Given the description of an element on the screen output the (x, y) to click on. 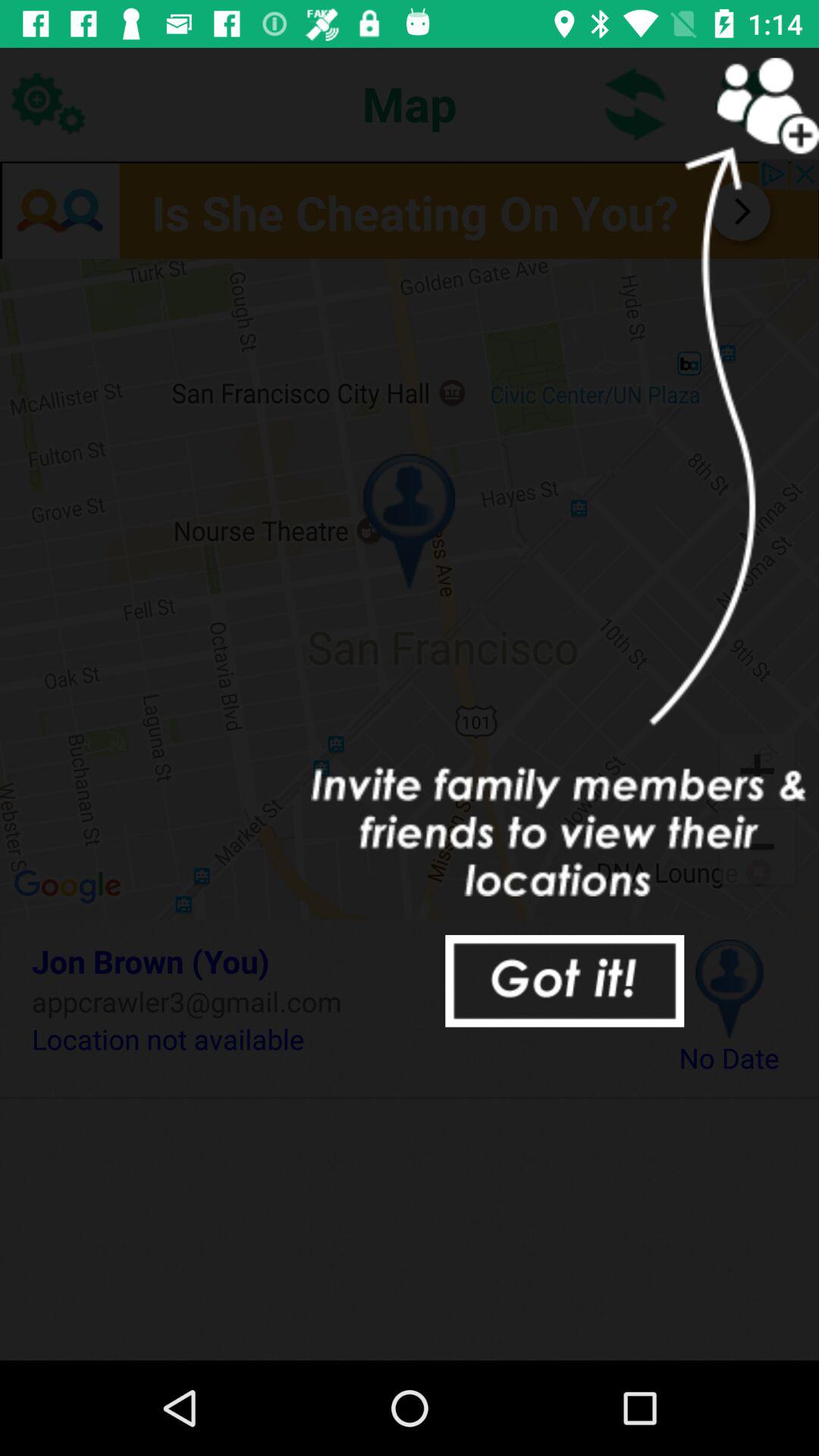
turn off the icon at the top left corner (47, 103)
